Given the description of an element on the screen output the (x, y) to click on. 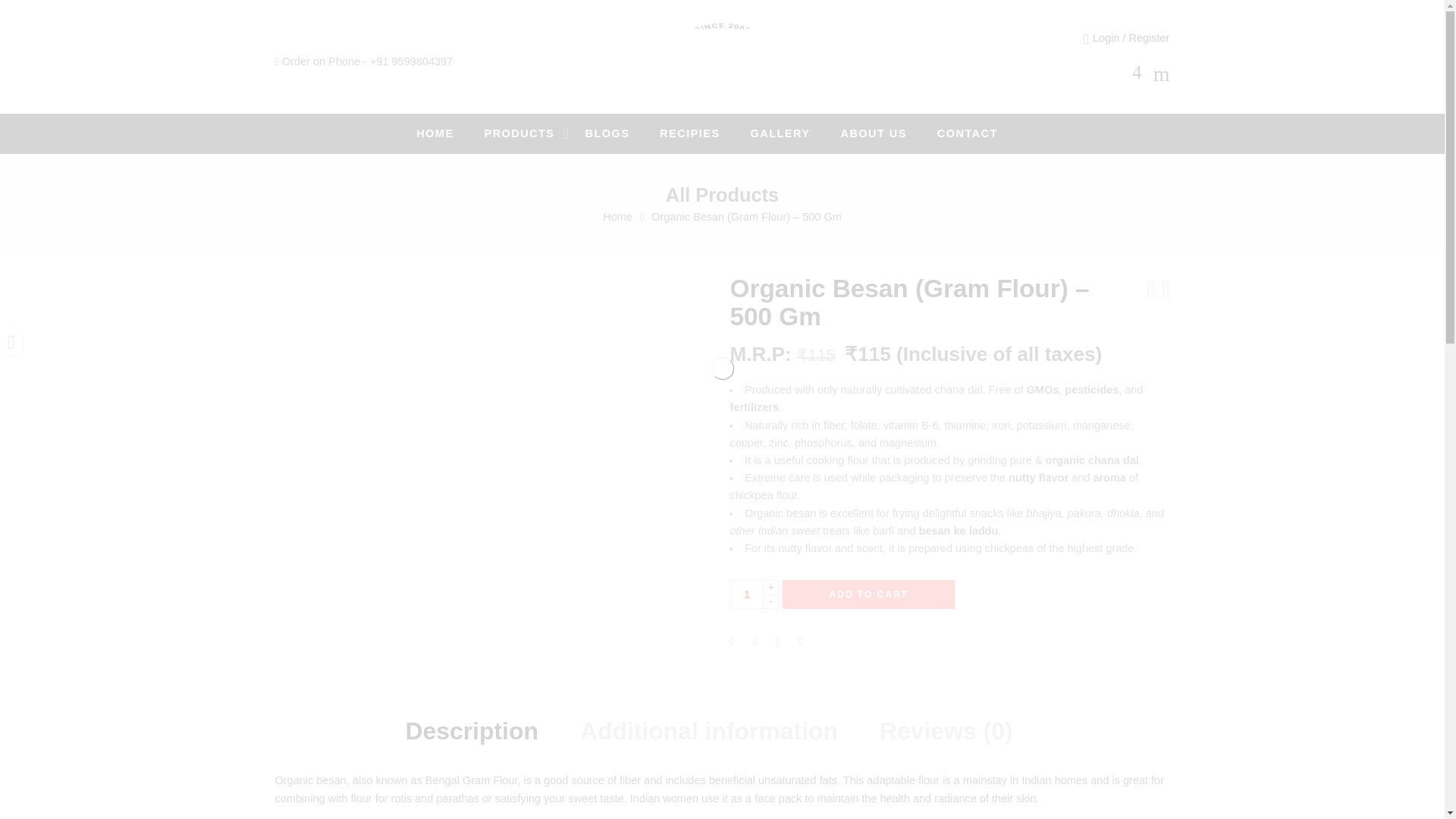
Home (449, 133)
PRODUCTS (534, 133)
ABOUT US (888, 133)
Search (1161, 76)
BLOGS (622, 133)
All Products (721, 194)
HOME (449, 133)
1 (745, 594)
Products (534, 133)
GALLERY (796, 133)
